Given the description of an element on the screen output the (x, y) to click on. 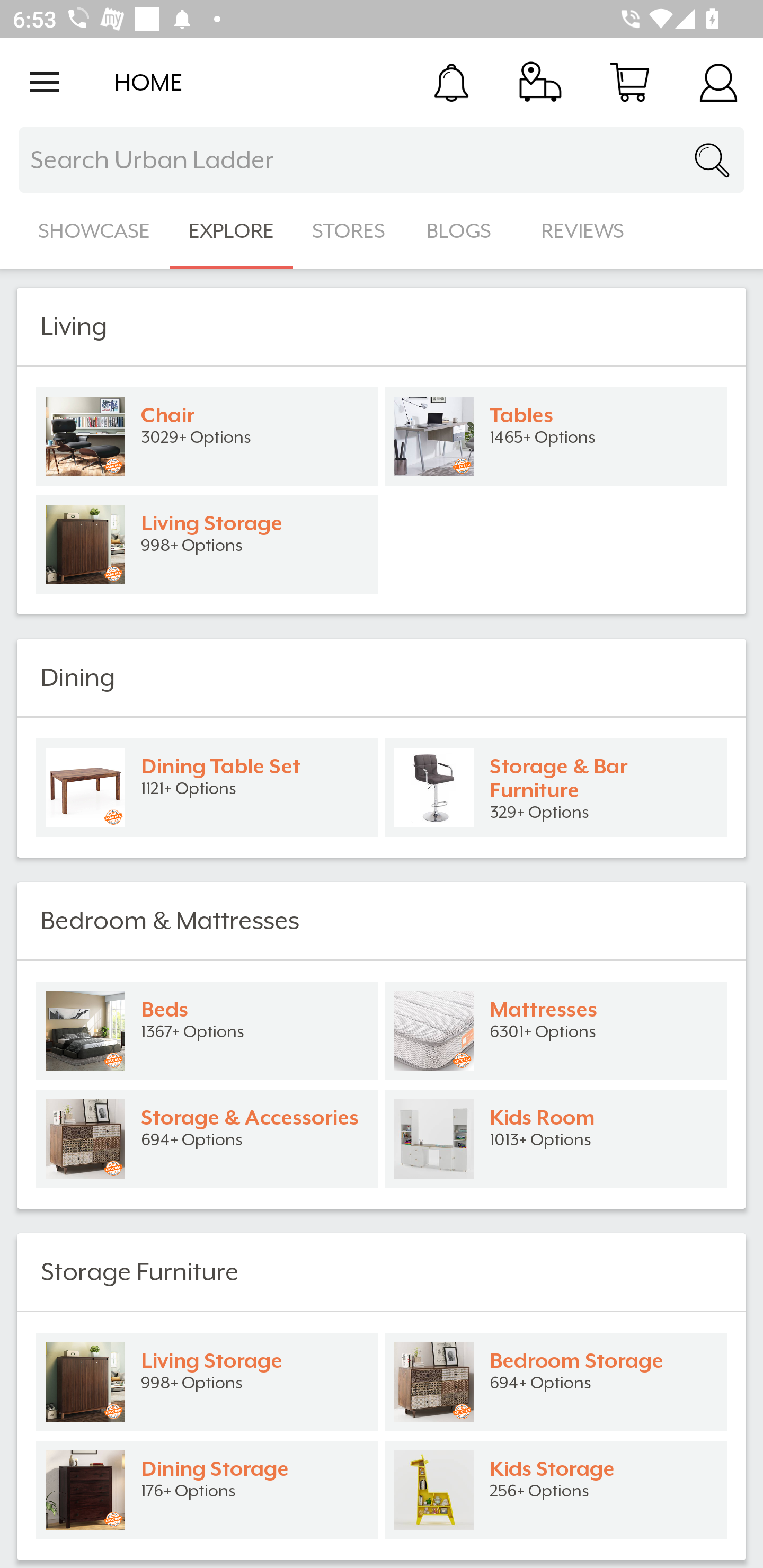
Open navigation drawer (44, 82)
Notification (450, 81)
Track Order (540, 81)
Cart (629, 81)
Account Details (718, 81)
Search Urban Ladder  (381, 159)
SHOWCASE (94, 230)
EXPLORE (230, 230)
STORES (349, 230)
BLOGS (464, 230)
REVIEWS (582, 230)
Chair 3029+ Options (206, 436)
Tables 1465+ Options (555, 436)
Living Storage 998+ Options (206, 544)
Dining Table Set 1121+ Options (206, 787)
Storage & Bar Furniture 329+ Options (555, 787)
Beds 1367+ Options (206, 1030)
Mattresses 6301+ Options (555, 1030)
Storage & Accessories 694+ Options (206, 1139)
Kids Room 1013+ Options (555, 1139)
Living Storage 998+ Options (206, 1382)
Bedroom Storage 694+ Options (555, 1382)
Dining Storage 176+ Options (206, 1490)
Kids Storage 256+ Options (555, 1490)
